Given the description of an element on the screen output the (x, y) to click on. 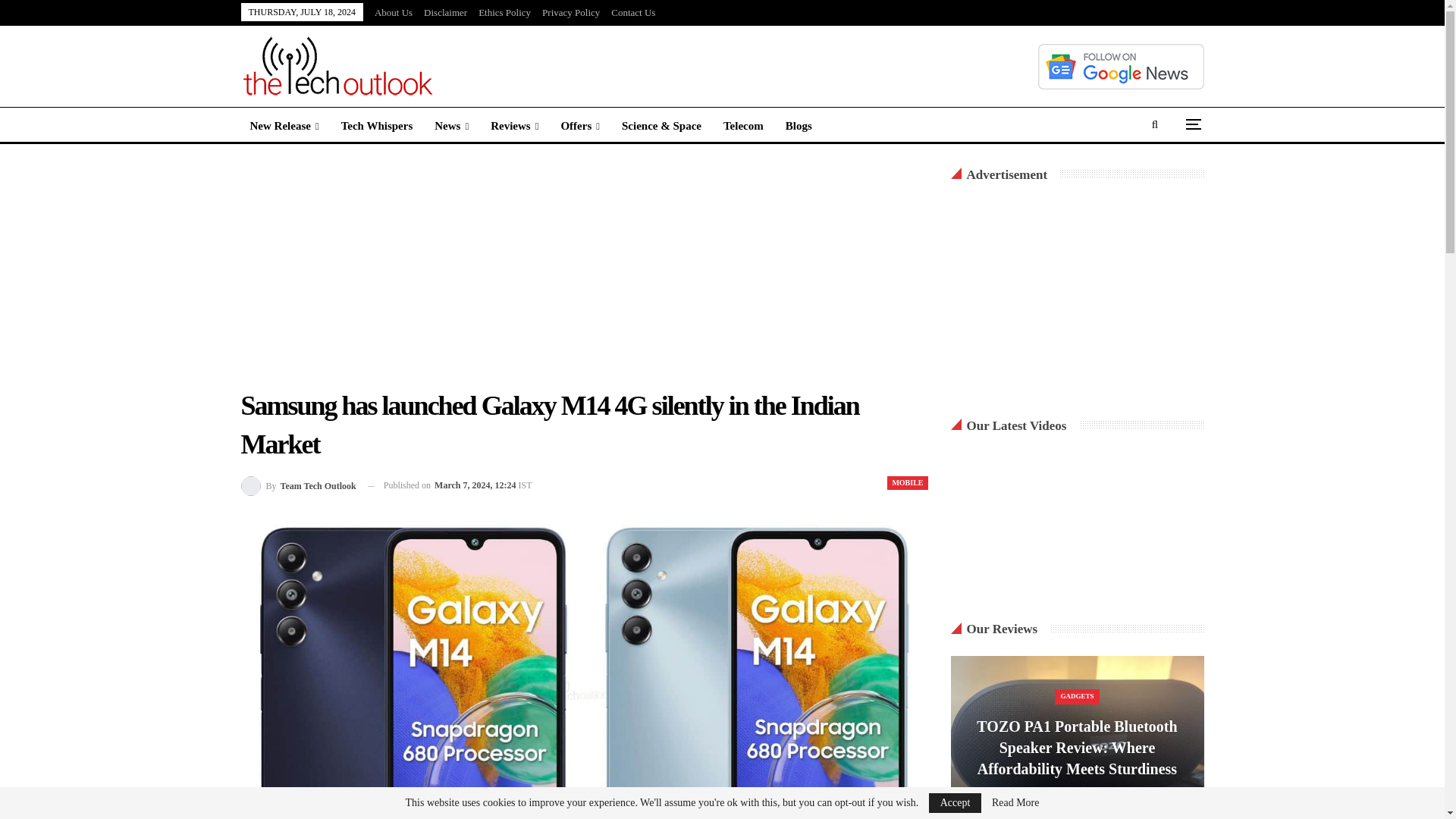
Browse Author Articles (298, 485)
